Given the description of an element on the screen output the (x, y) to click on. 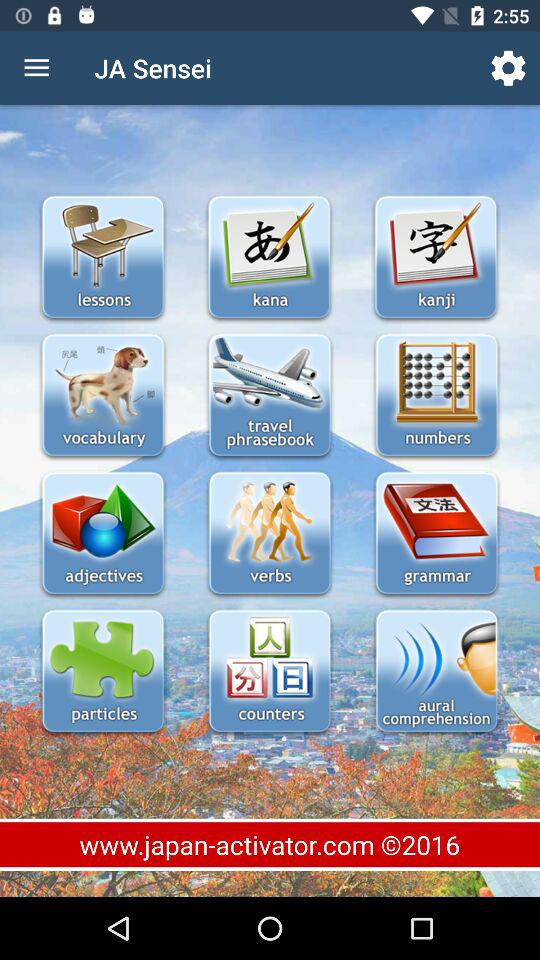
kana (269, 258)
